Given the description of an element on the screen output the (x, y) to click on. 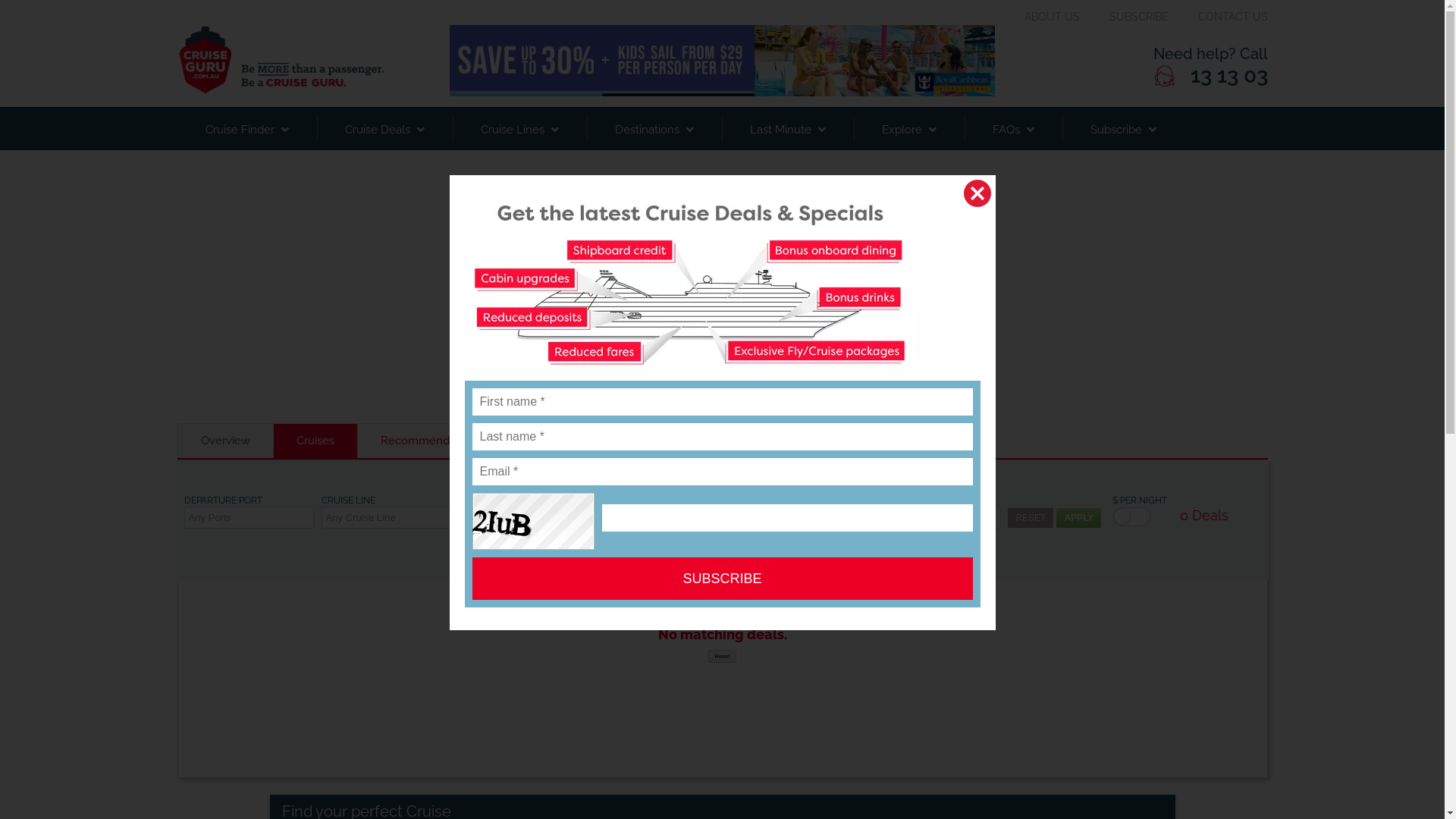
Cruise Finder Element type: text (246, 128)
FAQs Element type: text (1013, 128)
No limit Element type: text (935, 517)
Skip to content Element type: text (0, 0)
SUBSCRIBE Element type: text (721, 578)
Cruise Lines Element type: text (518, 128)
Destinations Element type: text (653, 128)
Cruise Deals Element type: text (384, 128)
SUBSCRIBE Element type: text (1137, 16)
Last Minute Element type: text (787, 128)
Any Duration Element type: text (661, 517)
Explore Element type: text (908, 128)
Need help? Call
13 13 03 Element type: text (1130, 65)
Subscribe Element type: text (1122, 128)
CONTACT US Element type: text (1232, 16)
ABOUT US Element type: text (1051, 16)
